Given the description of an element on the screen output the (x, y) to click on. 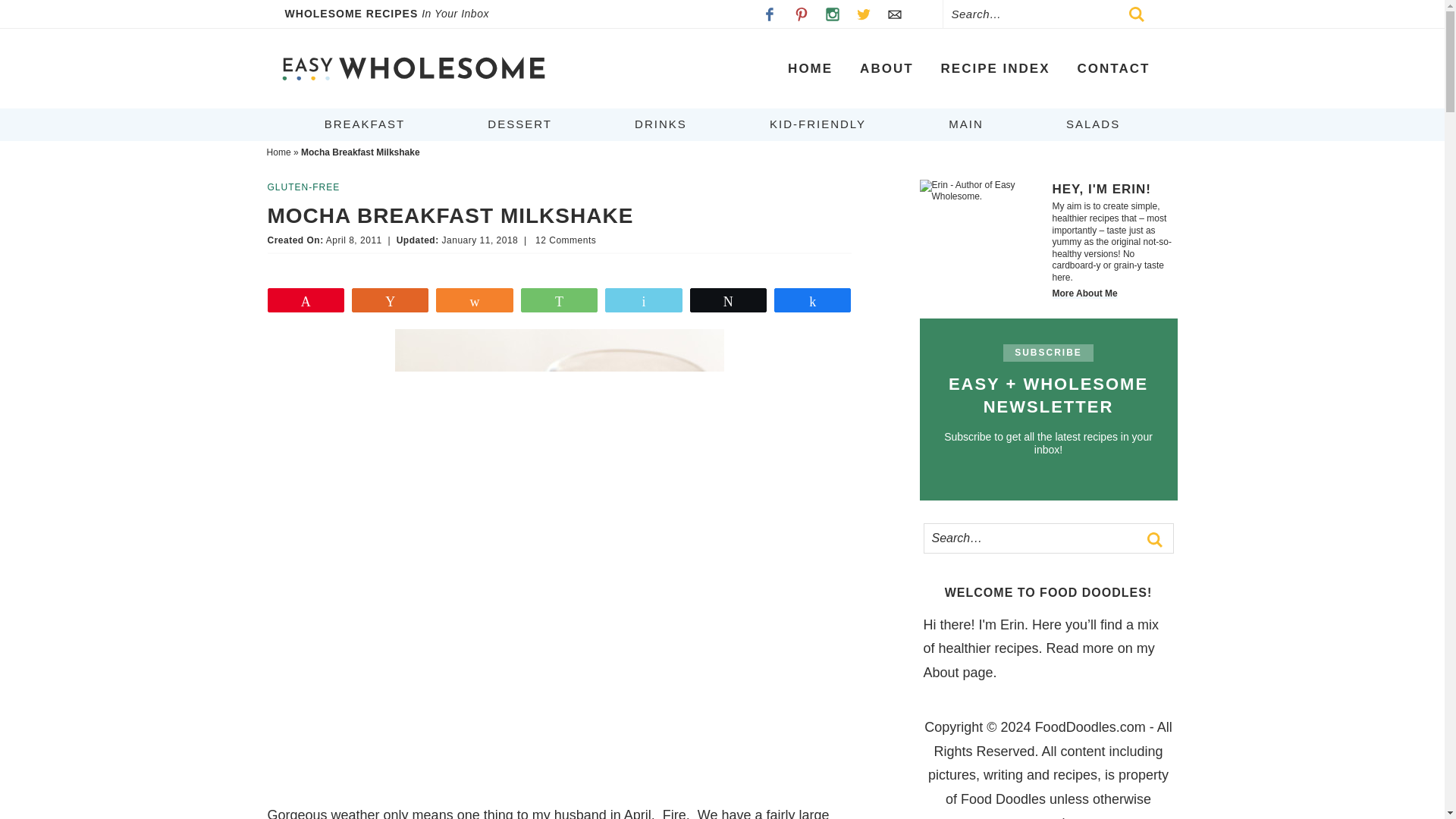
RECIPE INDEX (995, 68)
SALADS (1093, 124)
HOME (809, 68)
Home (278, 152)
DESSERT (519, 124)
KID-FRIENDLY (817, 124)
EASY WHOLESOME (413, 68)
BREAKFAST (364, 124)
Search for (1053, 13)
CONTACT (1113, 68)
ABOUT (885, 68)
DRINKS (660, 124)
Search for (1047, 538)
MAIN (965, 124)
